Given the description of an element on the screen output the (x, y) to click on. 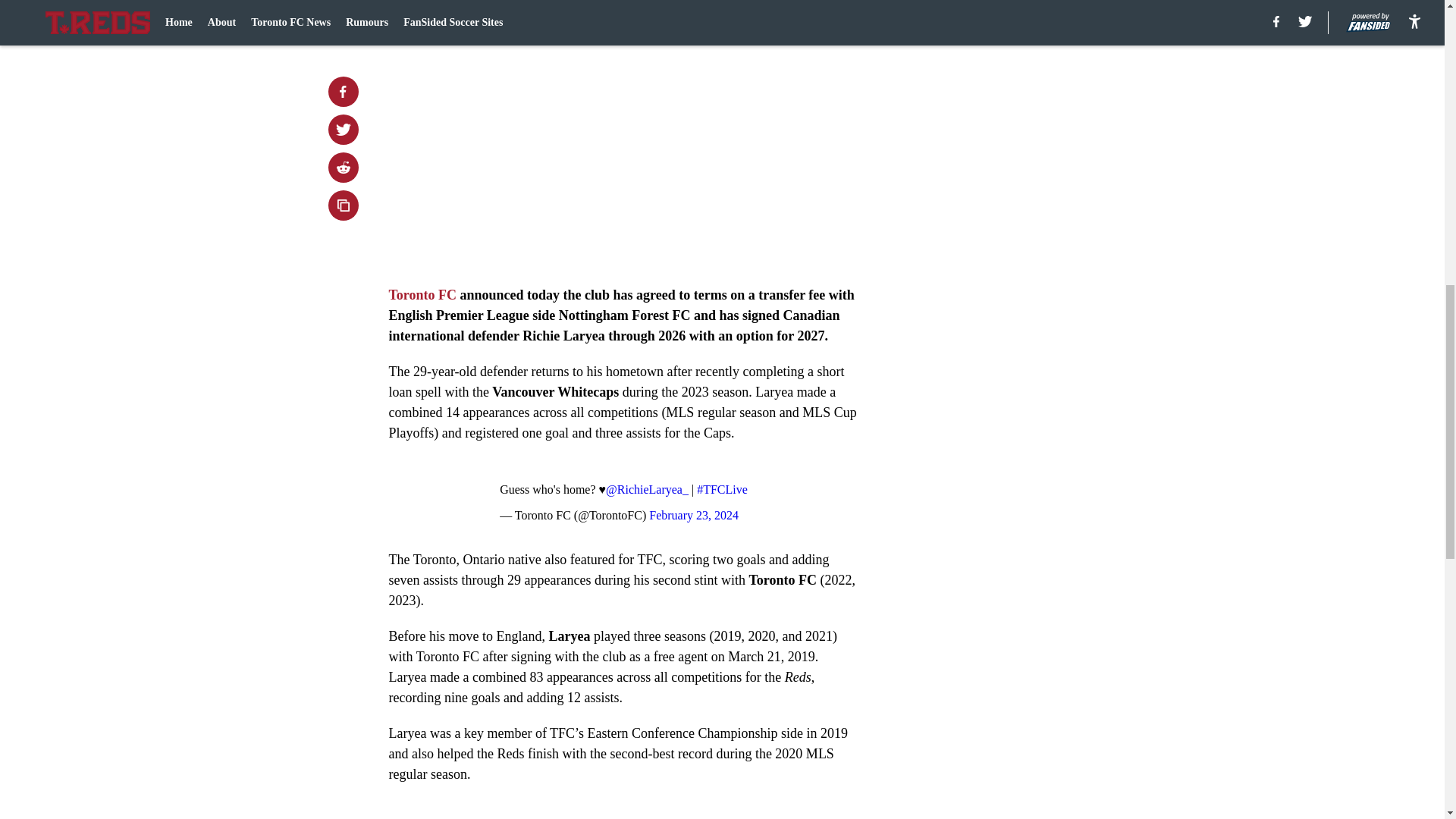
Toronto FC (424, 294)
February 23, 2024 (693, 514)
